Given the description of an element on the screen output the (x, y) to click on. 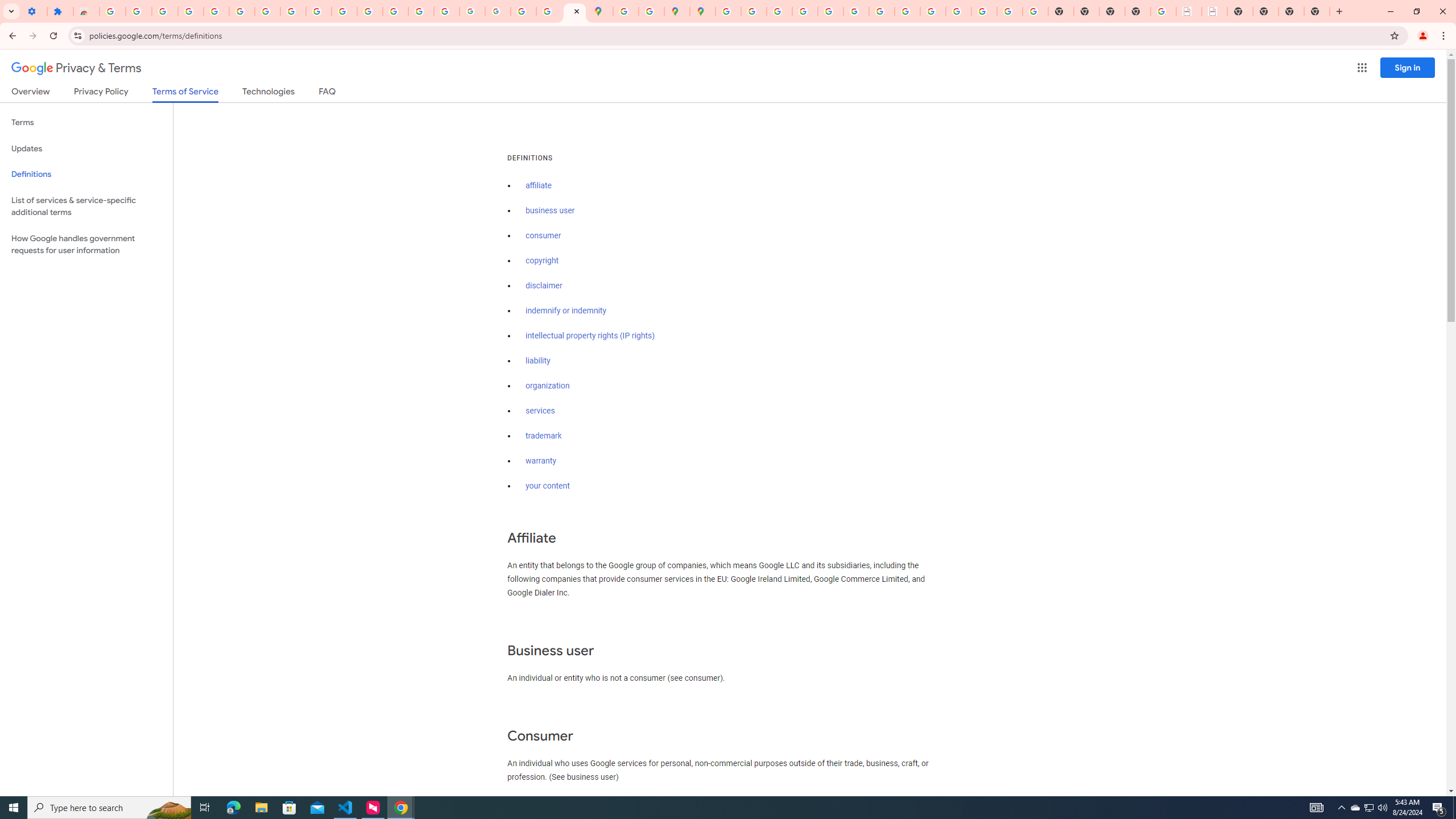
business user (550, 210)
Privacy Help Center - Policies Help (804, 11)
liability (537, 361)
New Tab (1137, 11)
YouTube (318, 11)
